Given the description of an element on the screen output the (x, y) to click on. 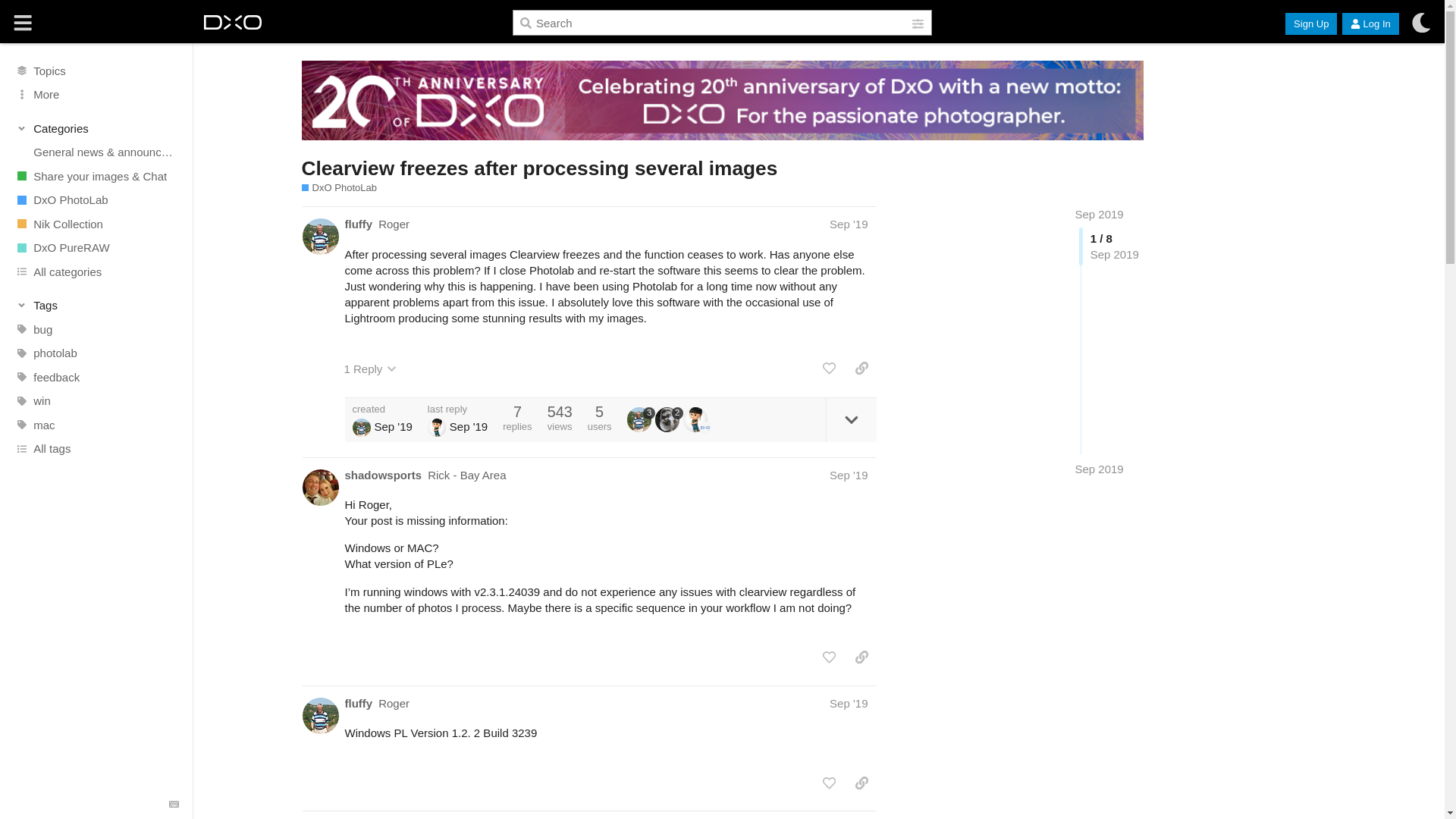
mac (96, 425)
Tags (96, 305)
Open advanced search (918, 23)
Roger (393, 223)
DxO PhotoLab (96, 200)
Log In (1369, 24)
Toggle section (96, 127)
Toggle section (96, 305)
bug (96, 329)
Nik Collection (96, 223)
DxO PhotoLab (339, 187)
Keyboard Shortcuts (173, 805)
Topics (96, 70)
